Given the description of an element on the screen output the (x, y) to click on. 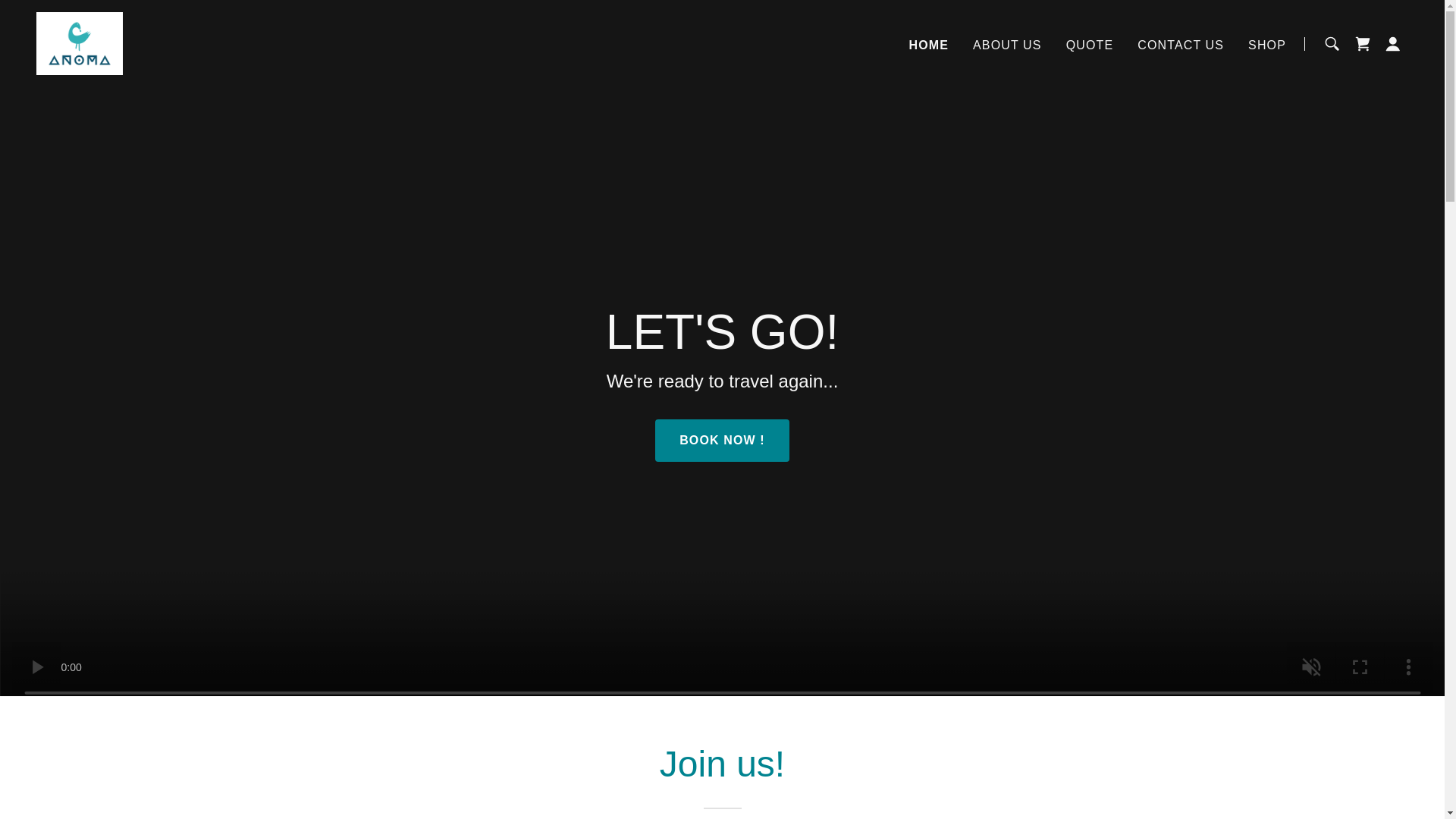
SHOP (1266, 44)
QUOTE (1089, 44)
HOME (928, 45)
ABOUT US (1007, 44)
BOOK NOW ! (722, 440)
ANOMA Travel and Tour (79, 42)
CONTACT US (1180, 44)
